Given the description of an element on the screen output the (x, y) to click on. 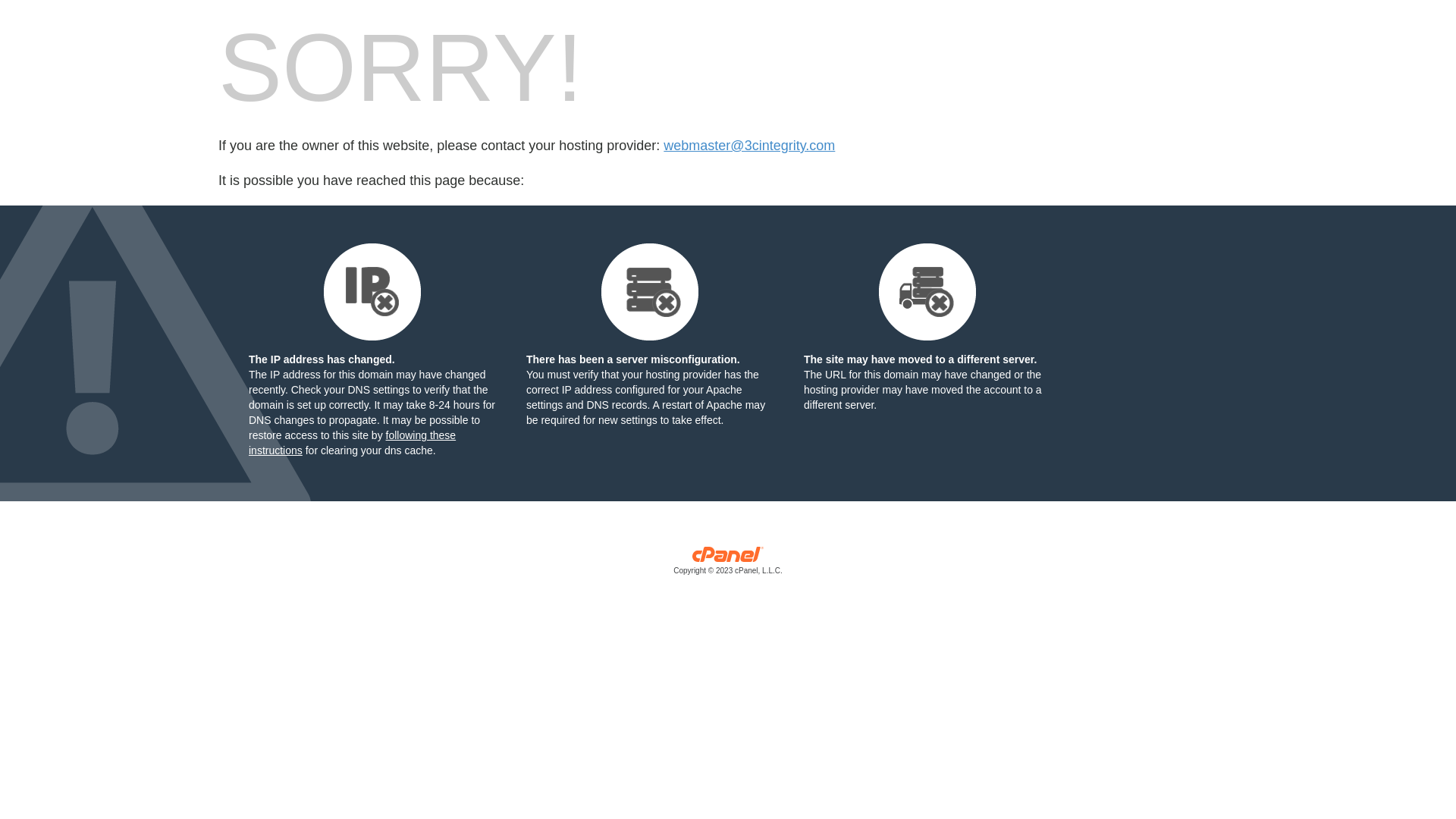
webmaster@3cintegrity.com Element type: text (748, 145)
following these instructions Element type: text (351, 442)
